Given the description of an element on the screen output the (x, y) to click on. 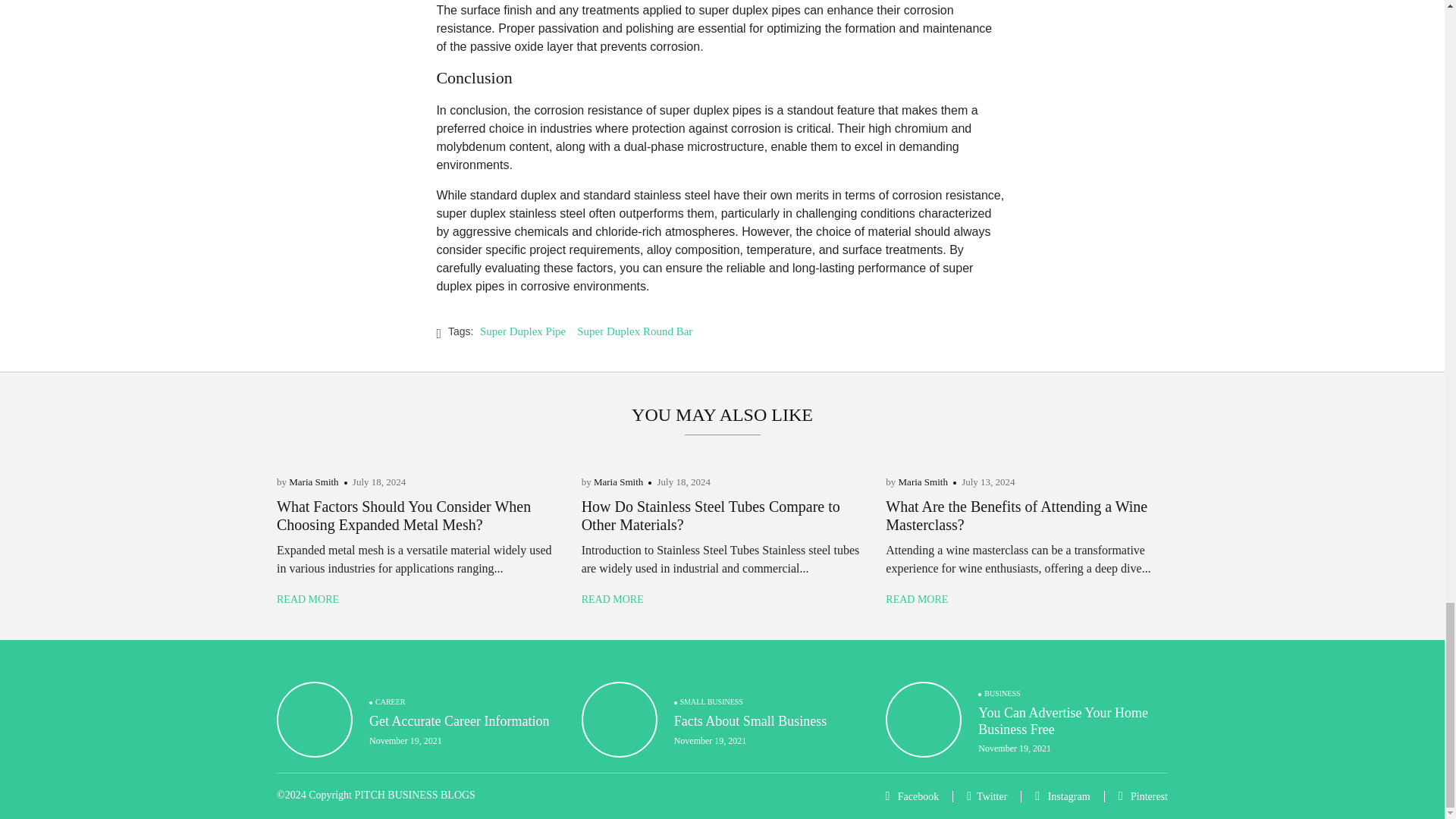
How Do Stainless Steel Tubes Compare to Other Materials? (710, 515)
What Are the Benefits of Attending a Wine Masterclass? (1016, 515)
Super Duplex Pipe (528, 331)
Super Duplex Round Bar (639, 331)
Super Duplex Round Bar Tag (639, 331)
Super Duplex Pipe Tag (528, 331)
READ MORE (307, 599)
